Given the description of an element on the screen output the (x, y) to click on. 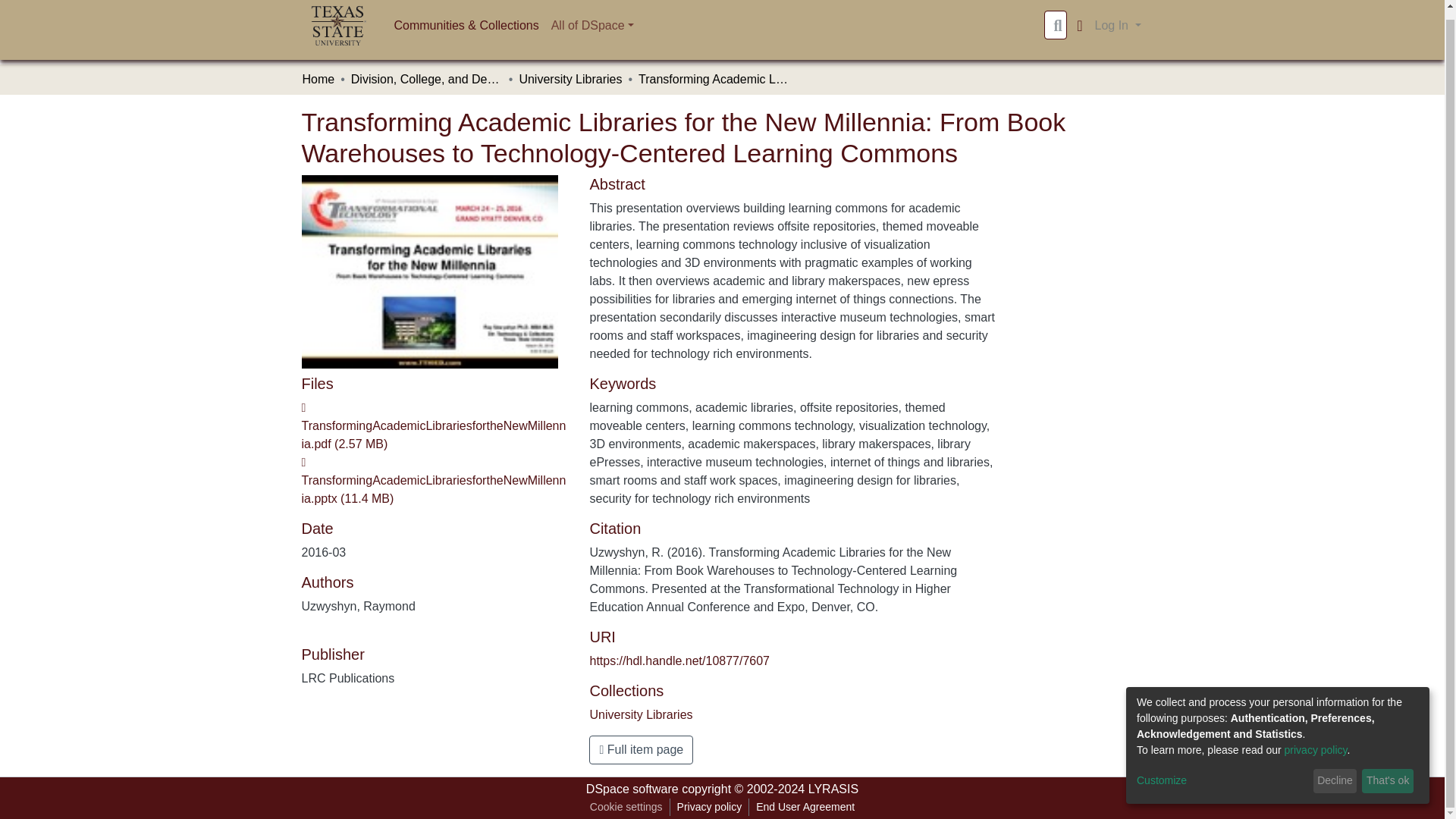
University Libraries (569, 79)
LYRASIS (833, 788)
Full item page (641, 749)
Customize (1222, 772)
Home (317, 79)
Privacy policy (709, 806)
Decline (1334, 772)
That's ok (1387, 772)
Division, College, and Department Research (426, 79)
University Libraries (641, 714)
